Given the description of an element on the screen output the (x, y) to click on. 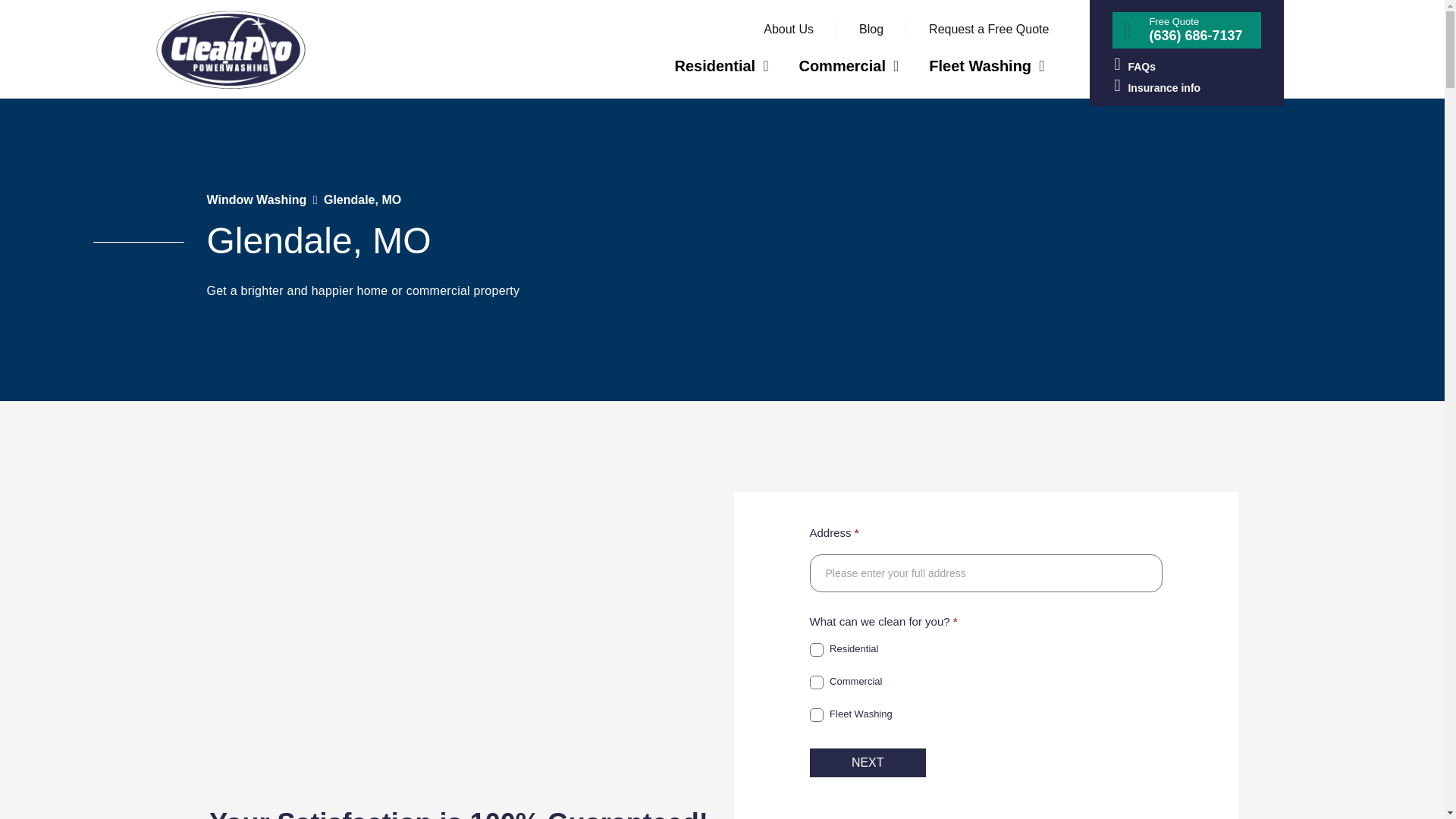
Commercial (848, 65)
About Us (787, 29)
Fleet Washing (816, 714)
Window Washing (255, 199)
Residential (721, 65)
Request a Free Quote (988, 29)
Fleet Washing (986, 65)
Insurance info (1186, 85)
Residential (816, 649)
